Given the description of an element on the screen output the (x, y) to click on. 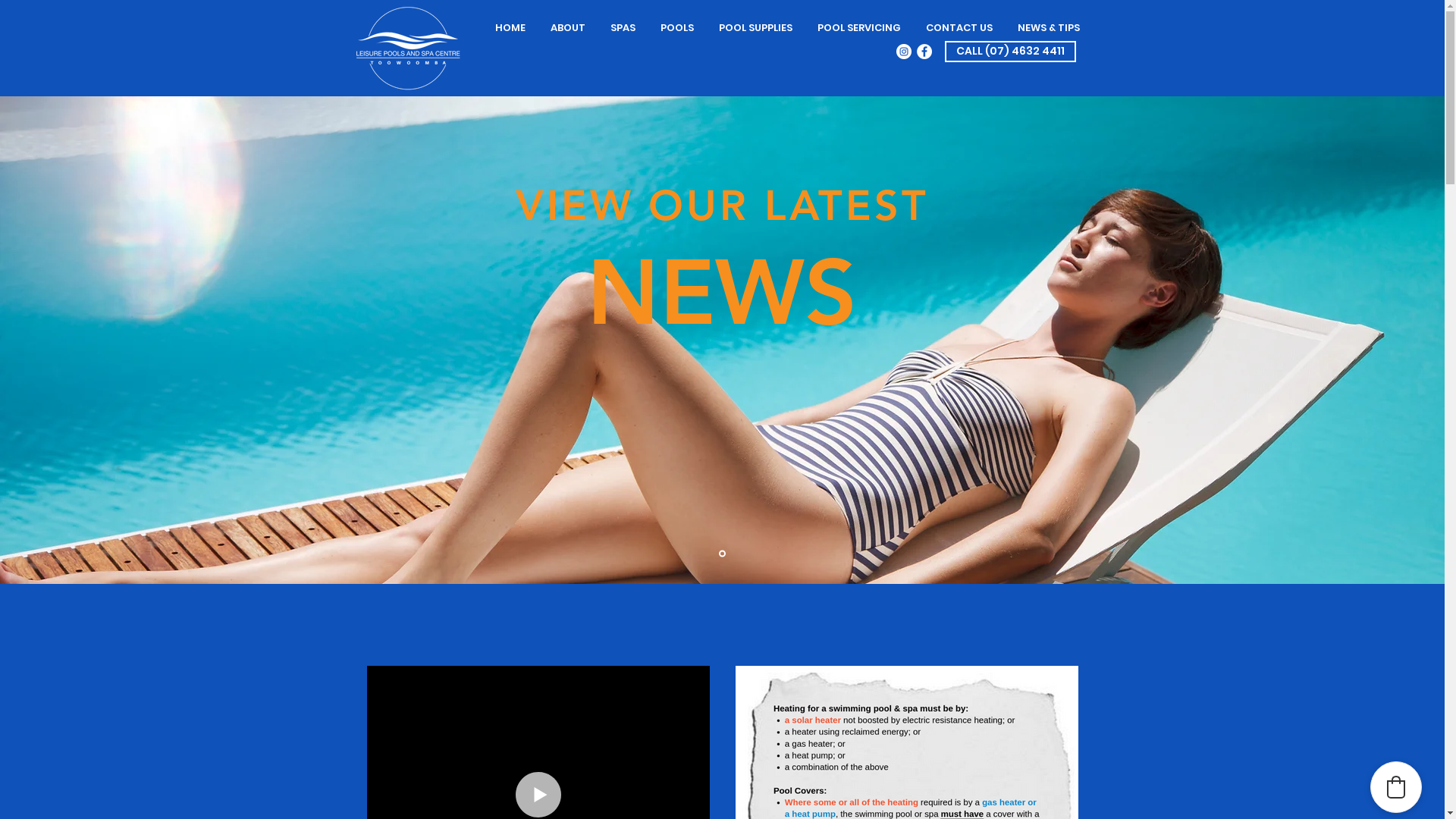
ABOUT Element type: text (568, 27)
CALL (07) 4632 4411 Element type: text (1010, 51)
HOME Element type: text (509, 27)
NEWS & TIPS Element type: text (1048, 27)
SPAS Element type: text (622, 27)
POOL SUPPLIES Element type: text (755, 27)
CONTACT US Element type: text (958, 27)
POOL SERVICING Element type: text (859, 27)
